Given the description of an element on the screen output the (x, y) to click on. 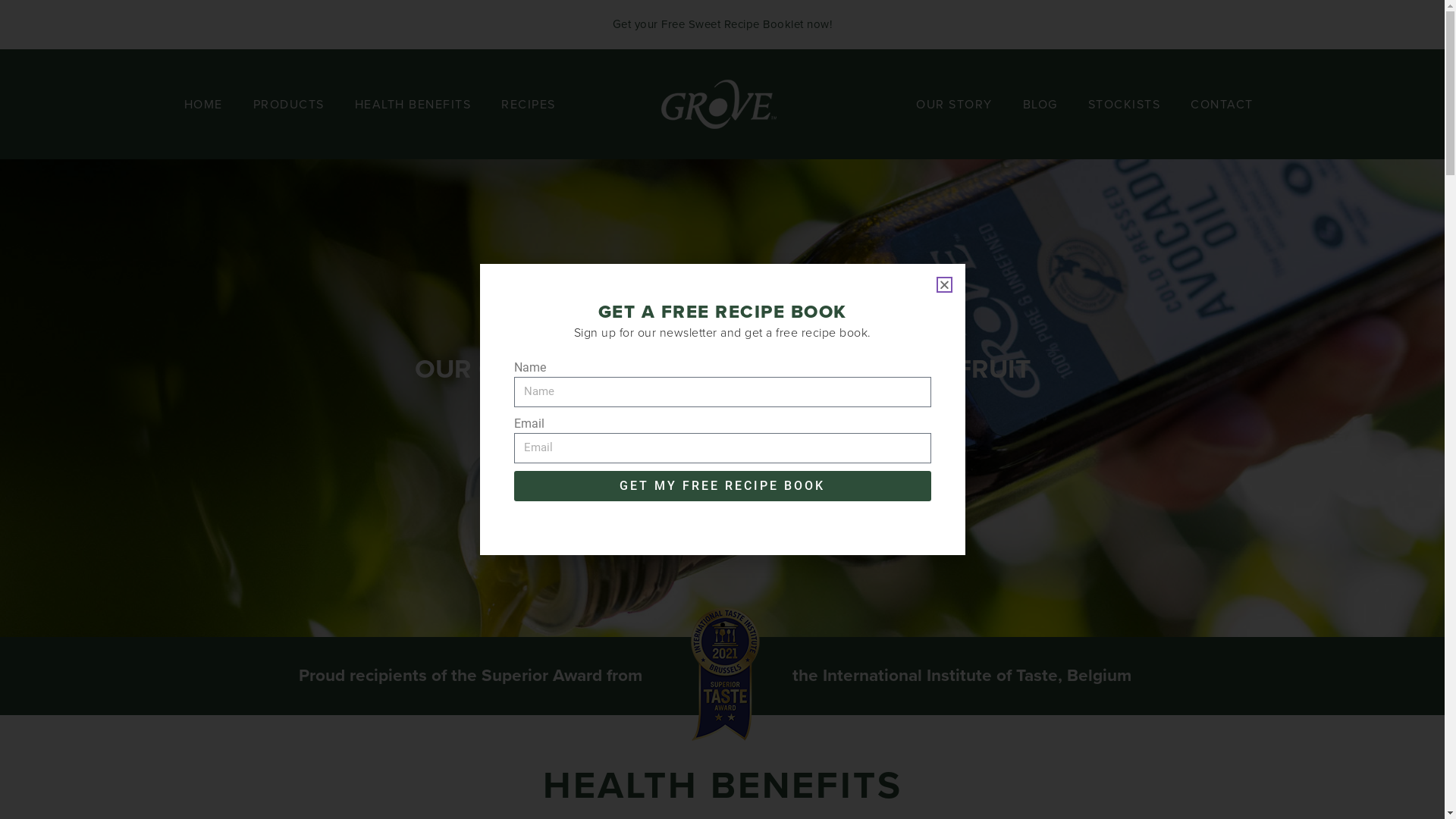
HEALTH BENEFITS Element type: text (412, 103)
OUR STORY Element type: text (953, 103)
CONTACT Element type: text (1221, 103)
HOME Element type: text (202, 103)
PRODUCTS Element type: text (288, 103)
STOCKISTS Element type: text (1124, 103)
RECIPES Element type: text (528, 103)
Get your Free Sweet Recipe Booklet now! Element type: text (722, 24)
BLOG Element type: text (1040, 103)
OUR OIL IS COLD PRESSED FROM A SUPER FRUIT
OUR STORY Element type: text (722, 398)
GET MY FREE RECIPE BOOK Element type: text (722, 485)
